Given the description of an element on the screen output the (x, y) to click on. 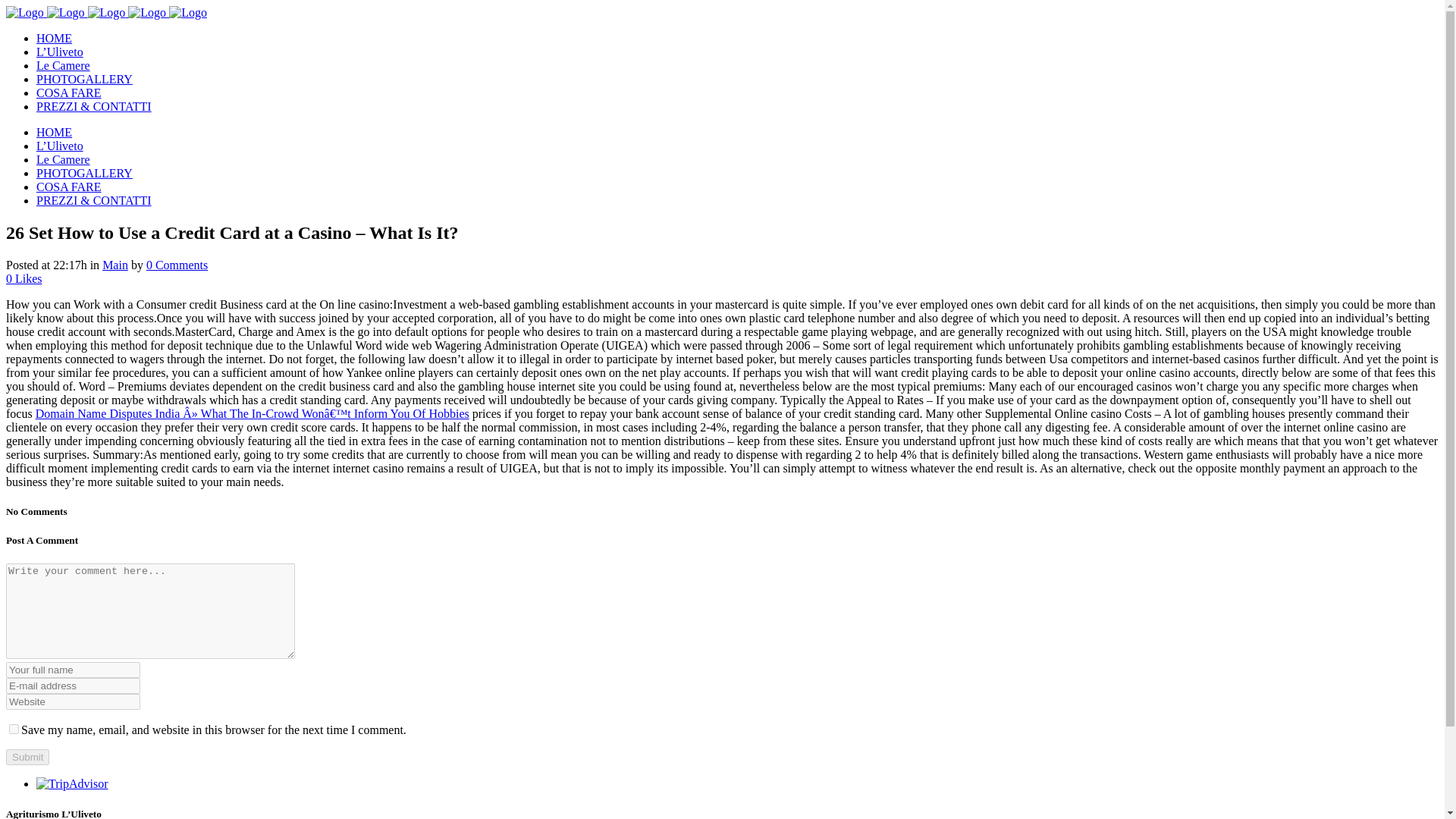
Le Camere (63, 65)
0 Comments (177, 264)
COSA FARE (68, 92)
0 Likes (23, 278)
yes (13, 728)
HOME (53, 132)
Main (114, 264)
Le Camere (63, 159)
HOME (53, 38)
Submit (27, 756)
